Given the description of an element on the screen output the (x, y) to click on. 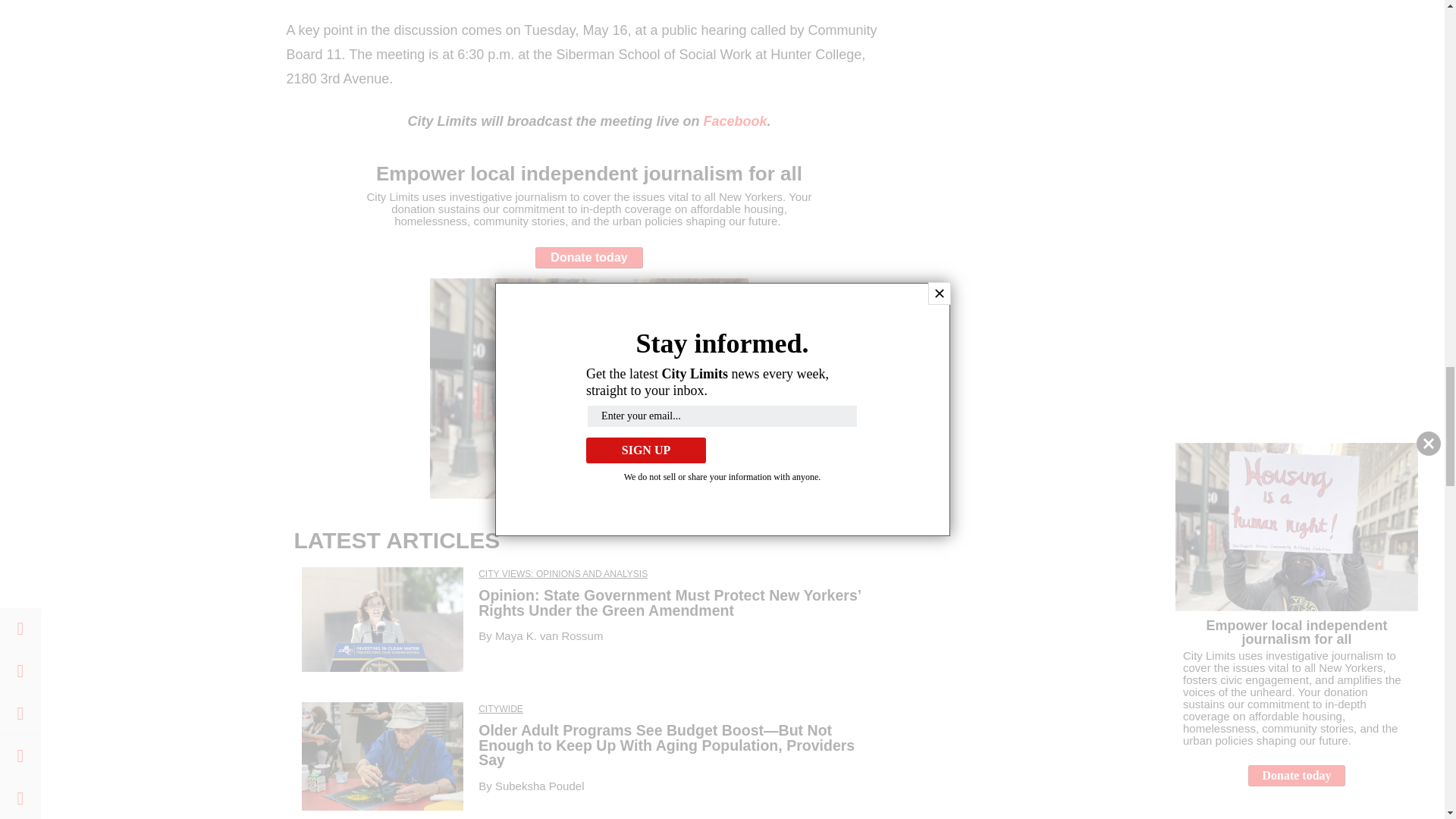
Donate today (589, 257)
Read All Posts By Maya K. van Rossum (549, 635)
Read Articles in the Citywide category (500, 708)
Read All Posts By Subeksha Poudel (540, 785)
